Given the description of an element on the screen output the (x, y) to click on. 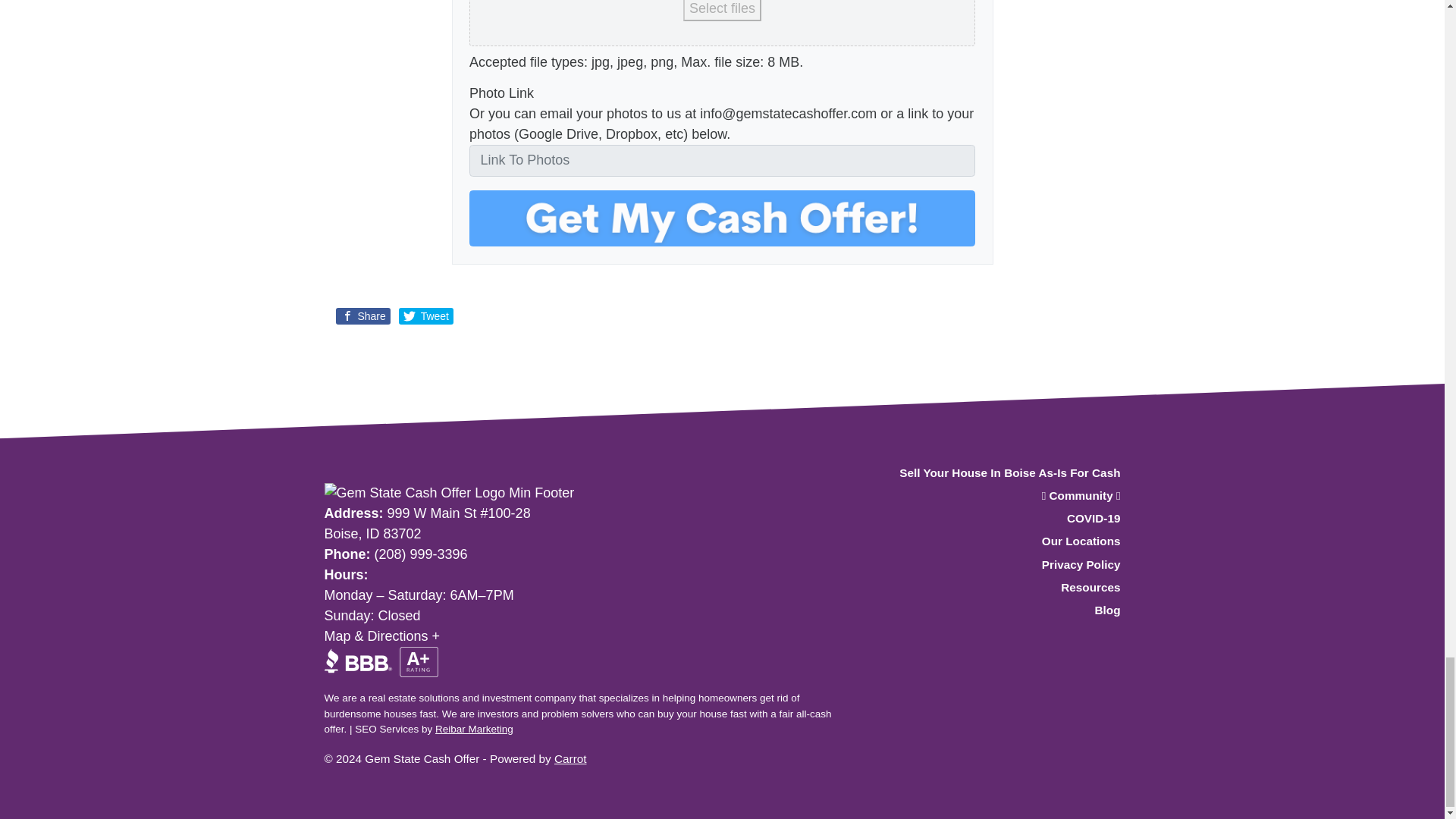
Our Locations (995, 541)
Tweet (425, 315)
Share (362, 315)
Sell Your House In Boise As-Is For Cash (995, 473)
Blog (995, 609)
Carrot (570, 758)
Share on Facebook (362, 315)
Share on Twitter (425, 315)
COVID-19 (995, 518)
Select files (721, 10)
